Given the description of an element on the screen output the (x, y) to click on. 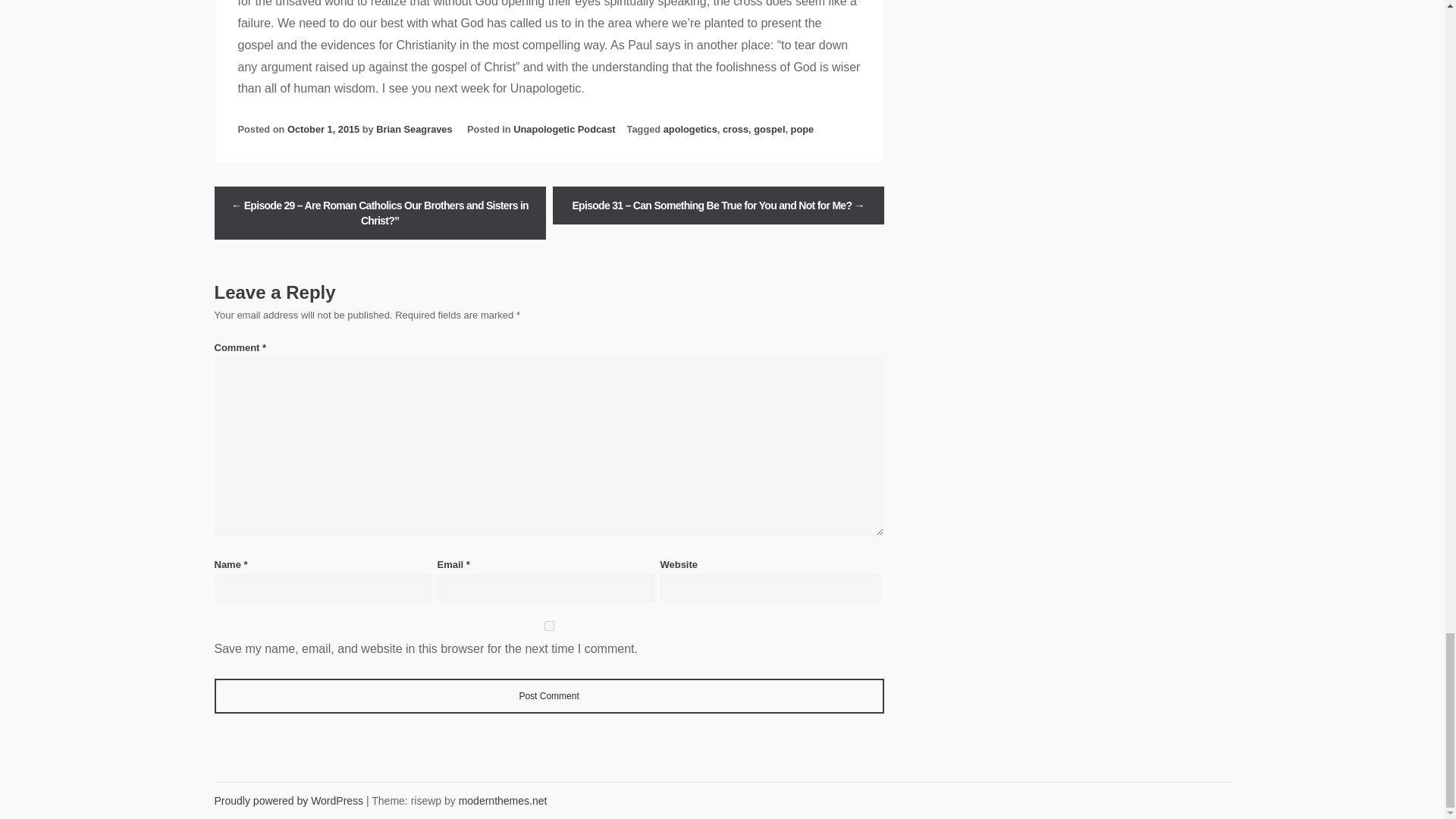
Unapologetic Podcast (563, 129)
apologetics (690, 129)
Post Comment (548, 695)
pope (801, 129)
yes (548, 625)
gospel (769, 129)
Brian Seagraves (413, 129)
October 1, 2015 (322, 129)
Post Comment (548, 695)
cross (735, 129)
